Given the description of an element on the screen output the (x, y) to click on. 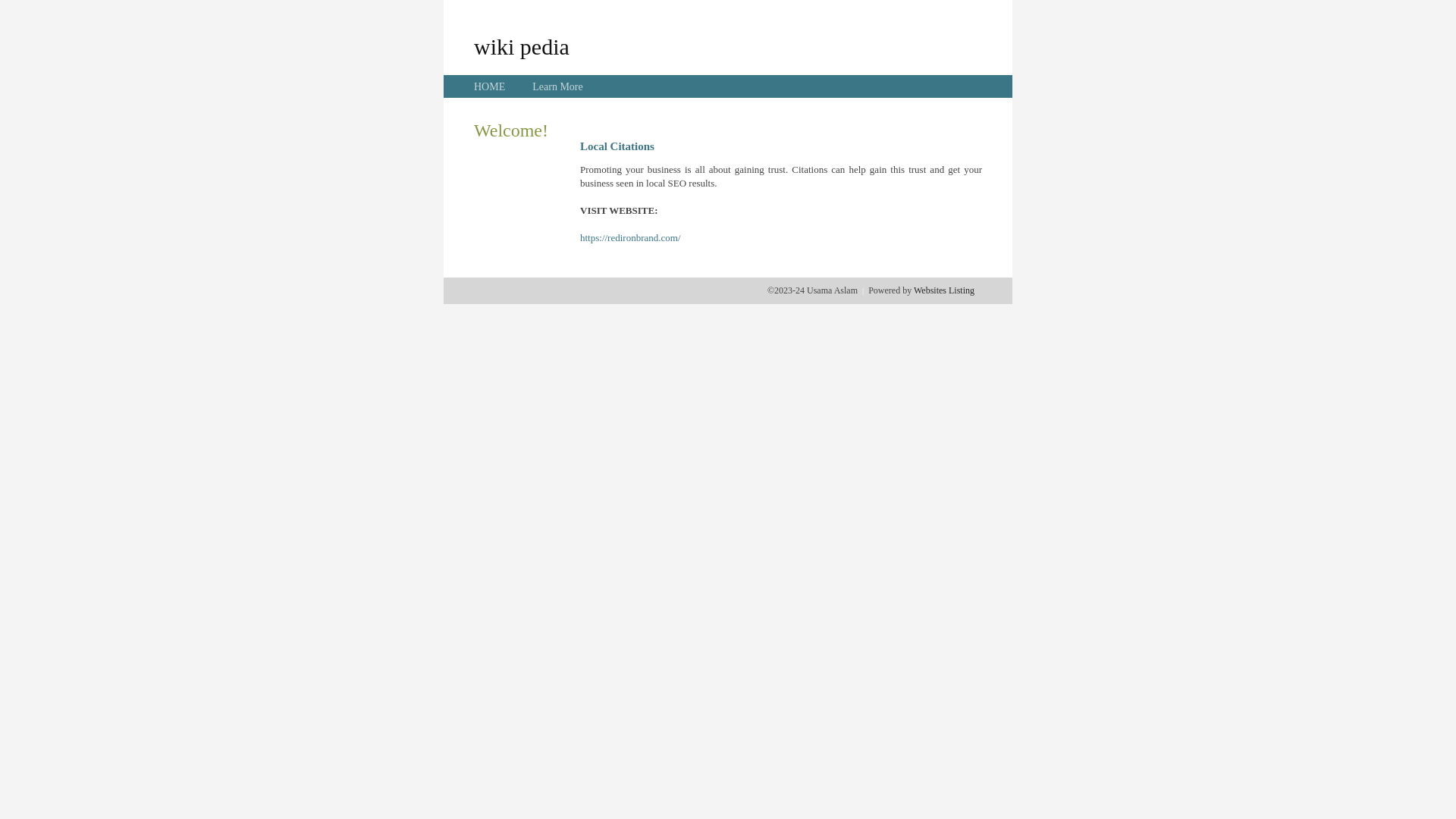
wiki pedia Element type: text (521, 46)
HOME Element type: text (489, 86)
Websites Listing Element type: text (943, 290)
https://redironbrand.com/ Element type: text (630, 237)
Learn More Element type: text (557, 86)
